Given the description of an element on the screen output the (x, y) to click on. 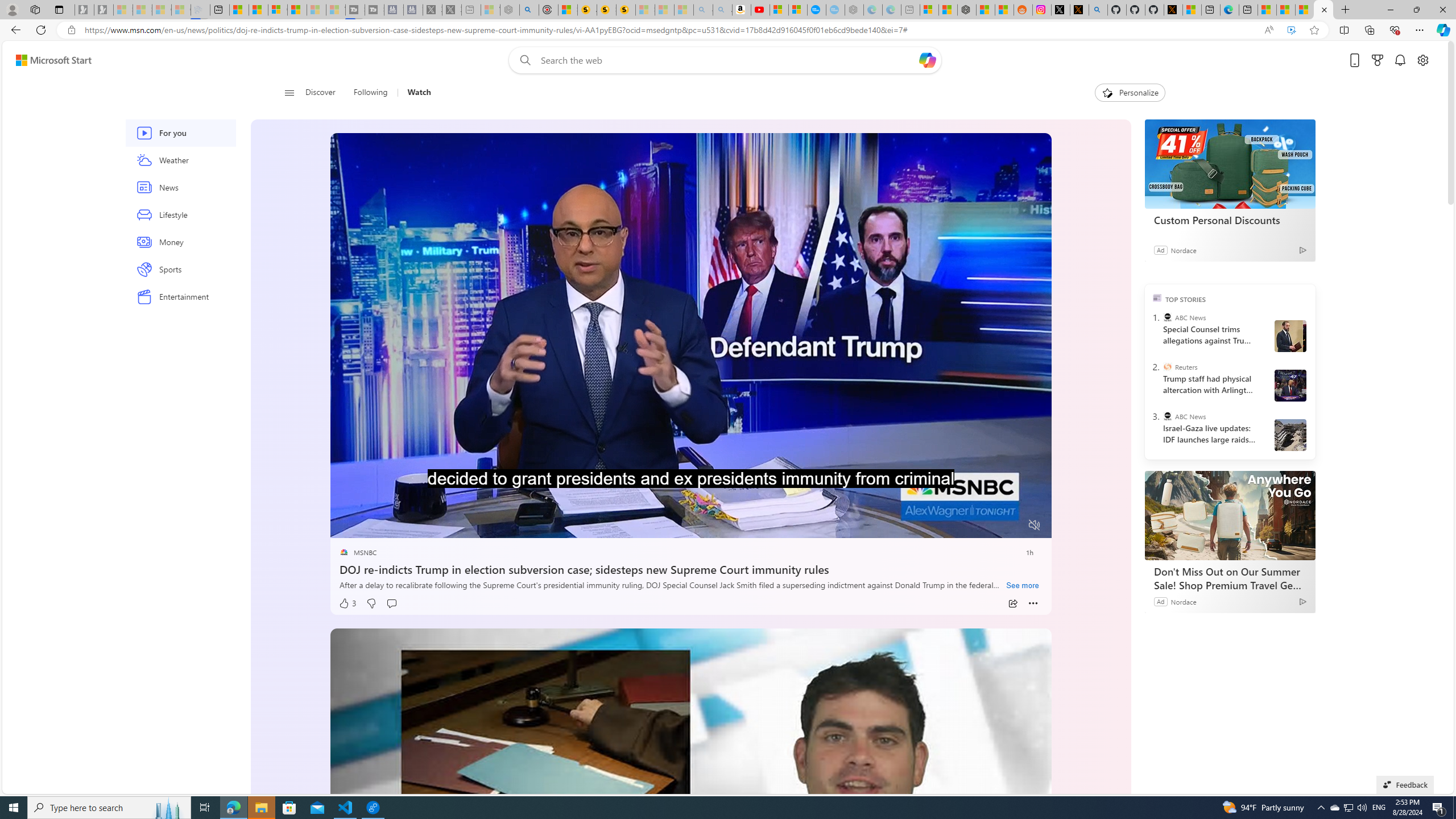
Quality Settings (967, 525)
Seek Back (369, 525)
Streaming Coverage | T3 - Sleeping (354, 9)
Discover (319, 92)
Reuters (1167, 366)
Ad (1160, 601)
Newsletter Sign Up - Sleeping (102, 9)
Personalize (1129, 92)
Unmute (1034, 524)
Enhance video (1291, 29)
Custom Personal Discounts (1230, 163)
